Given the description of an element on the screen output the (x, y) to click on. 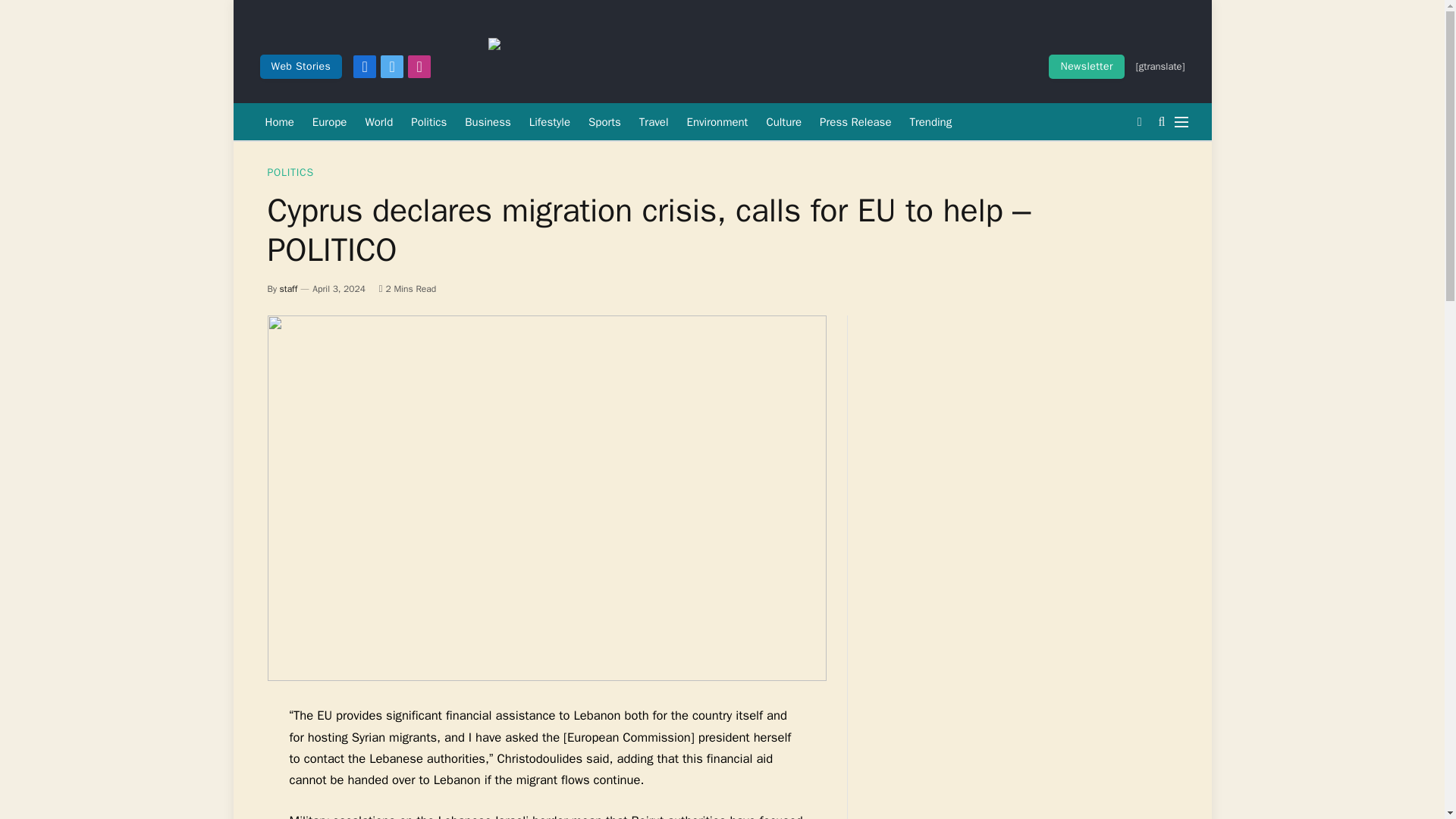
Business (487, 121)
Lifestyle (549, 121)
Culture (783, 121)
Home (279, 121)
Search (1162, 121)
Trending (929, 121)
Daily Guardian Europe (745, 66)
Posts by staff (288, 288)
Newsletter (1086, 66)
Switch to Dark Design - easier on eyes. (1139, 121)
Sports (604, 121)
Web Stories (300, 66)
Facebook (364, 66)
Travel (654, 121)
Environment (717, 121)
